Given the description of an element on the screen output the (x, y) to click on. 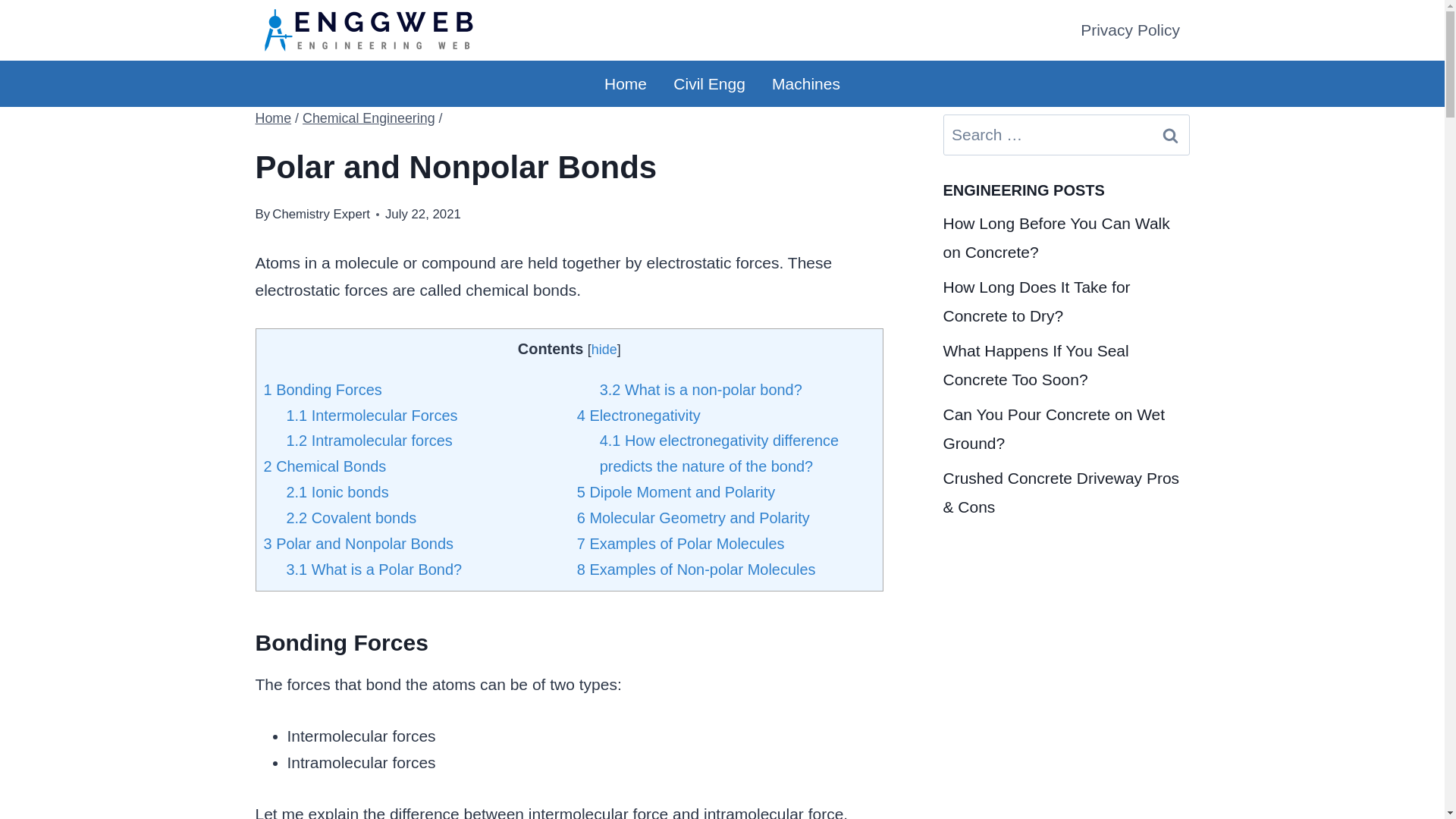
Chemistry Expert (320, 214)
6 Molecular Geometry and Polarity (692, 517)
8 Examples of Non-polar Molecules (695, 569)
3.2 What is a non-polar bond? (700, 389)
Machines (805, 83)
What Happens If You Seal Concrete Too Soon? (1036, 365)
1.2 Intramolecular forces (368, 440)
1 Bonding Forces (322, 389)
4 Electronegativity (638, 415)
Chemical Engineering (368, 118)
2.2 Covalent bonds (350, 517)
3.1 What is a Polar Bond? (373, 569)
hide (604, 349)
